Given the description of an element on the screen output the (x, y) to click on. 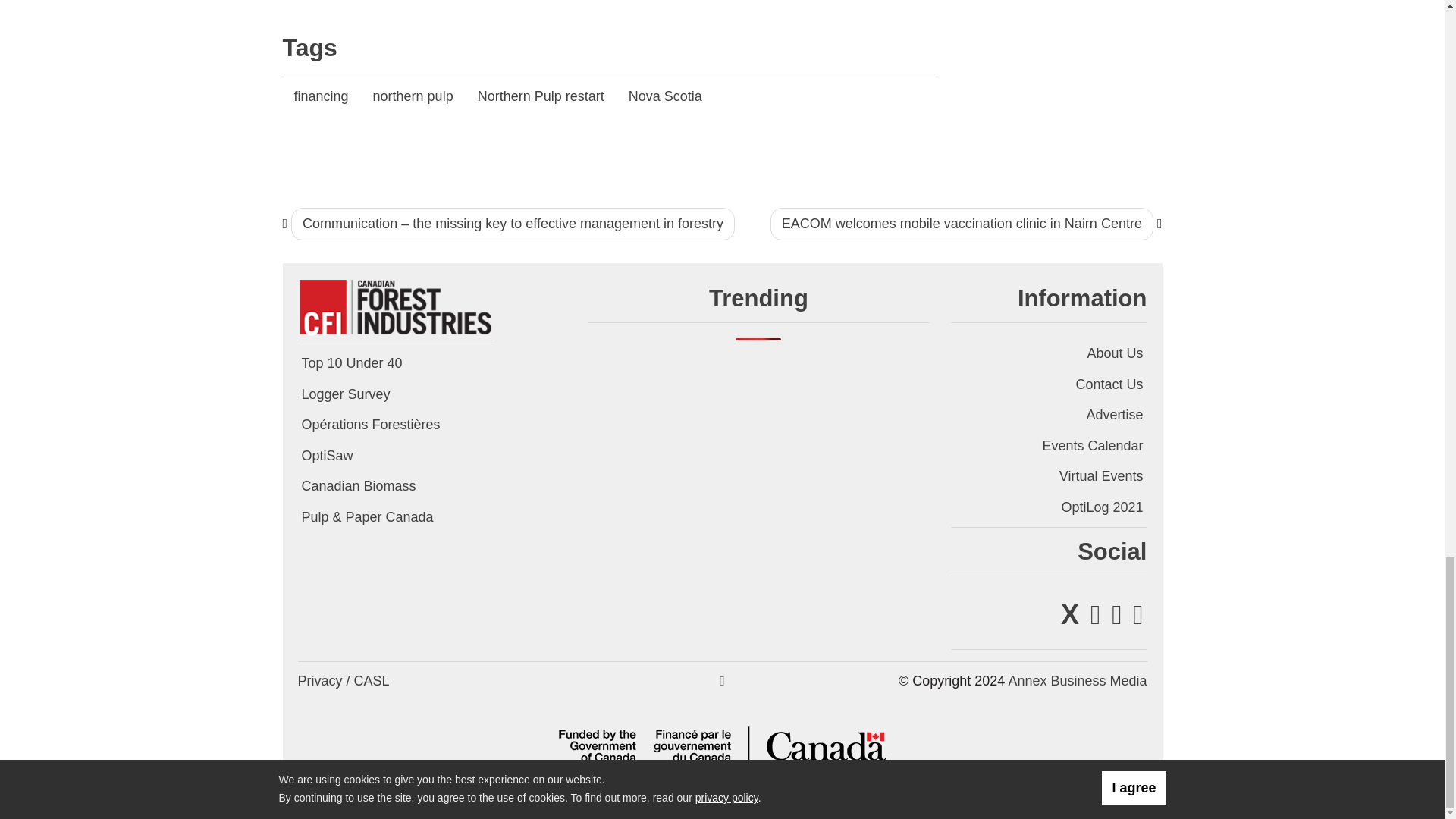
Wood Business (395, 305)
Annex Business Media (1077, 680)
